Given the description of an element on the screen output the (x, y) to click on. 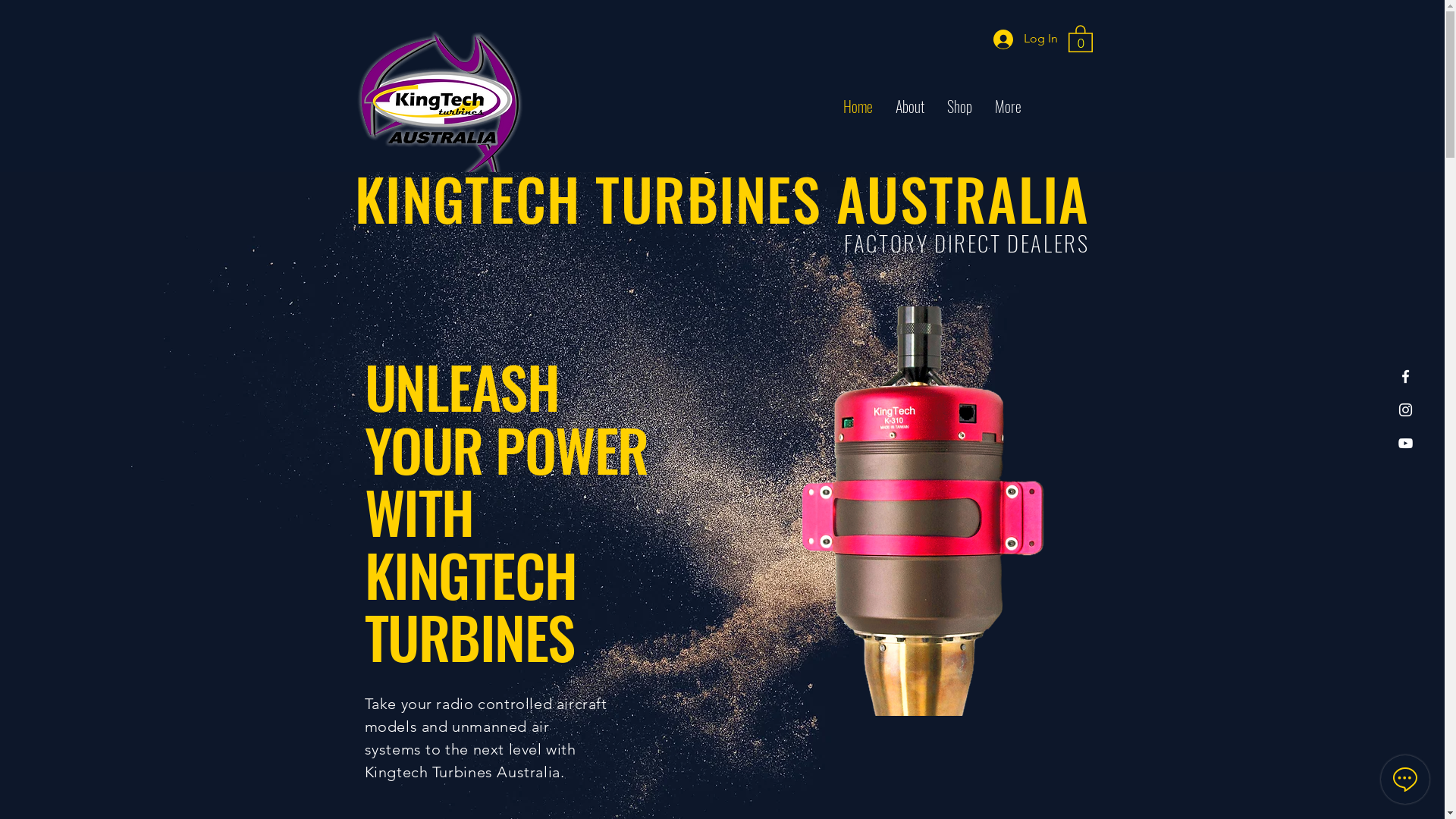
Shop Element type: text (959, 106)
Log In Element type: text (1025, 38)
About Element type: text (909, 106)
0 Element type: text (1079, 37)
KINGTECH TURBINES AUSTRALIA Element type: text (721, 197)
Home Element type: text (857, 106)
